Given the description of an element on the screen output the (x, y) to click on. 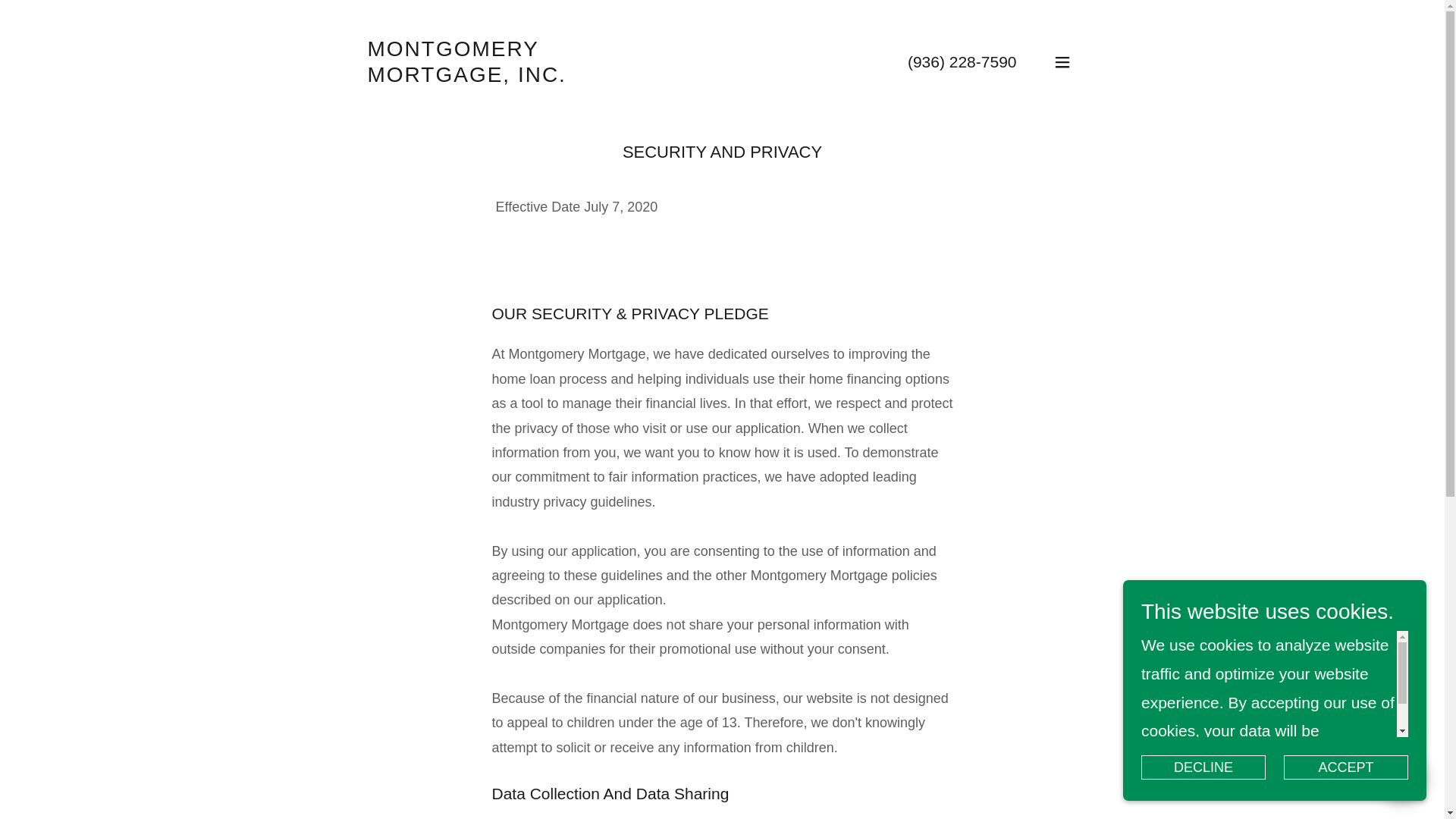
DECLINE (1203, 767)
Montgomery Mortgage, Inc. (490, 61)
ACCEPT (1345, 767)
MONTGOMERY MORTGAGE, INC. (490, 61)
